Given the description of an element on the screen output the (x, y) to click on. 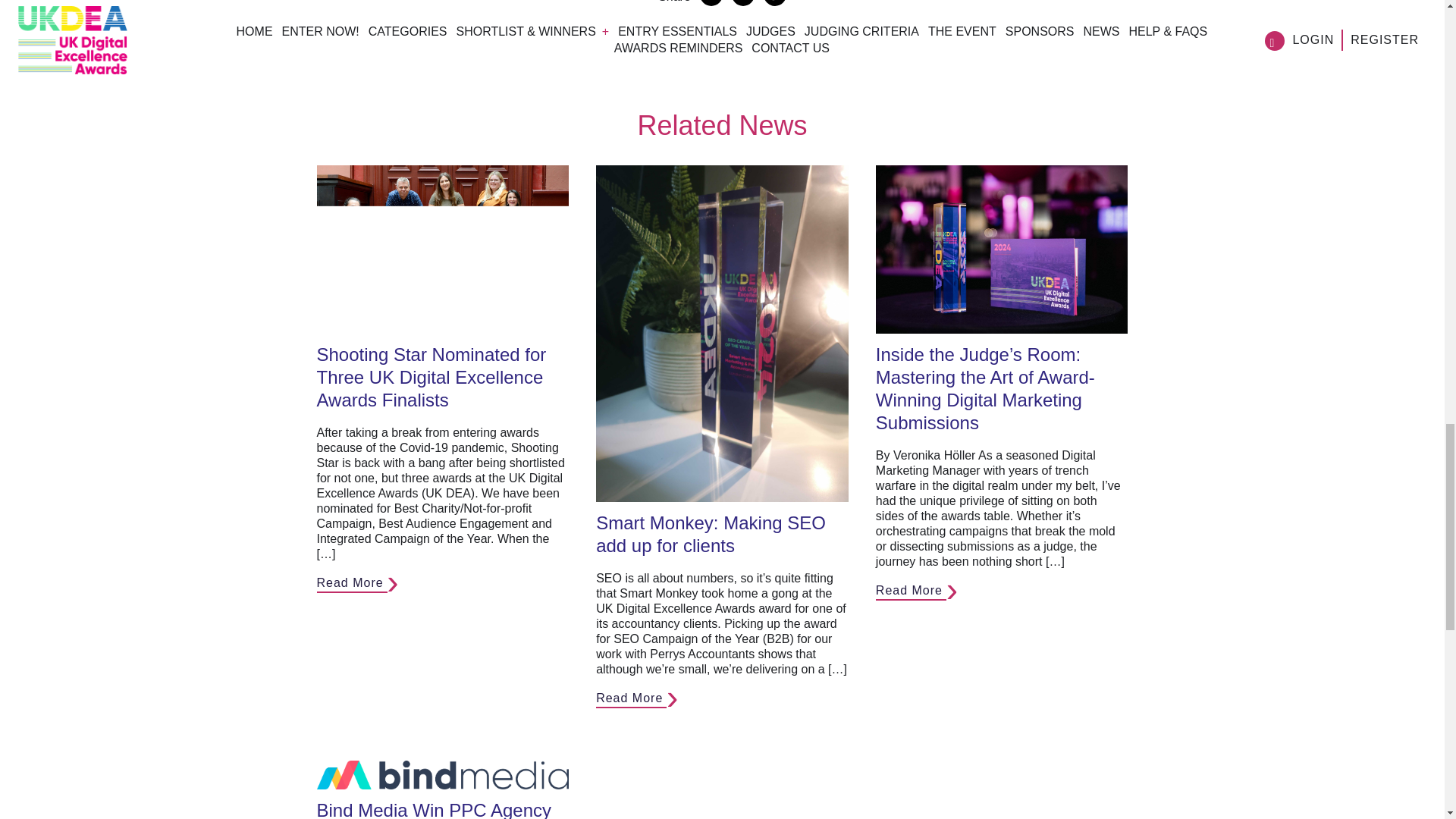
Read More (352, 583)
Read More (630, 698)
Read More (911, 590)
